Given the description of an element on the screen output the (x, y) to click on. 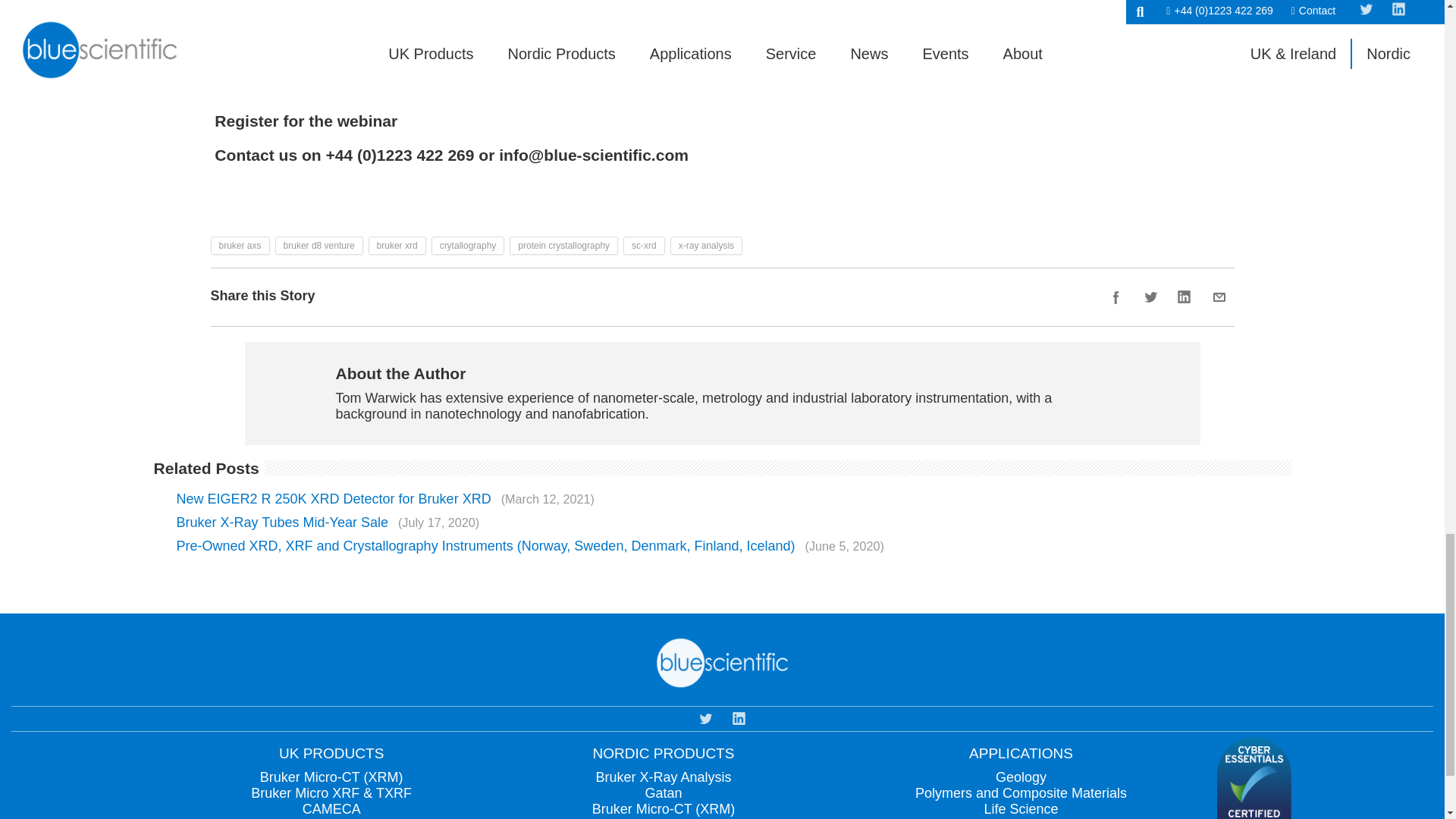
Facebook (1115, 296)
Twitter (1150, 296)
LinkedIn (1184, 296)
E-Mail (1219, 296)
Permanent Link to Bruker X-Ray Tubes Mid-Year Sale (327, 522)
